Given the description of an element on the screen output the (x, y) to click on. 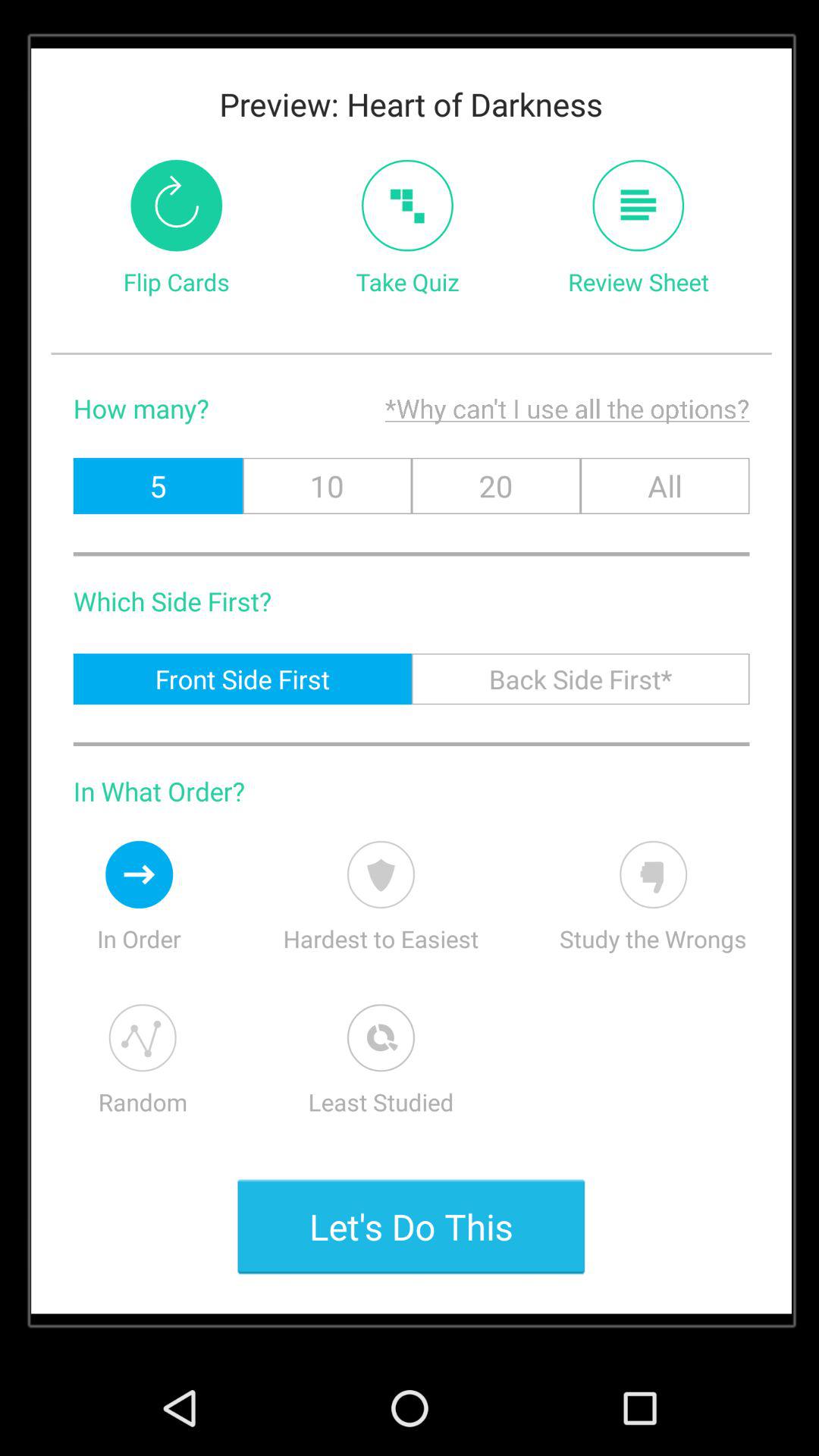
review sheet (638, 205)
